Given the description of an element on the screen output the (x, y) to click on. 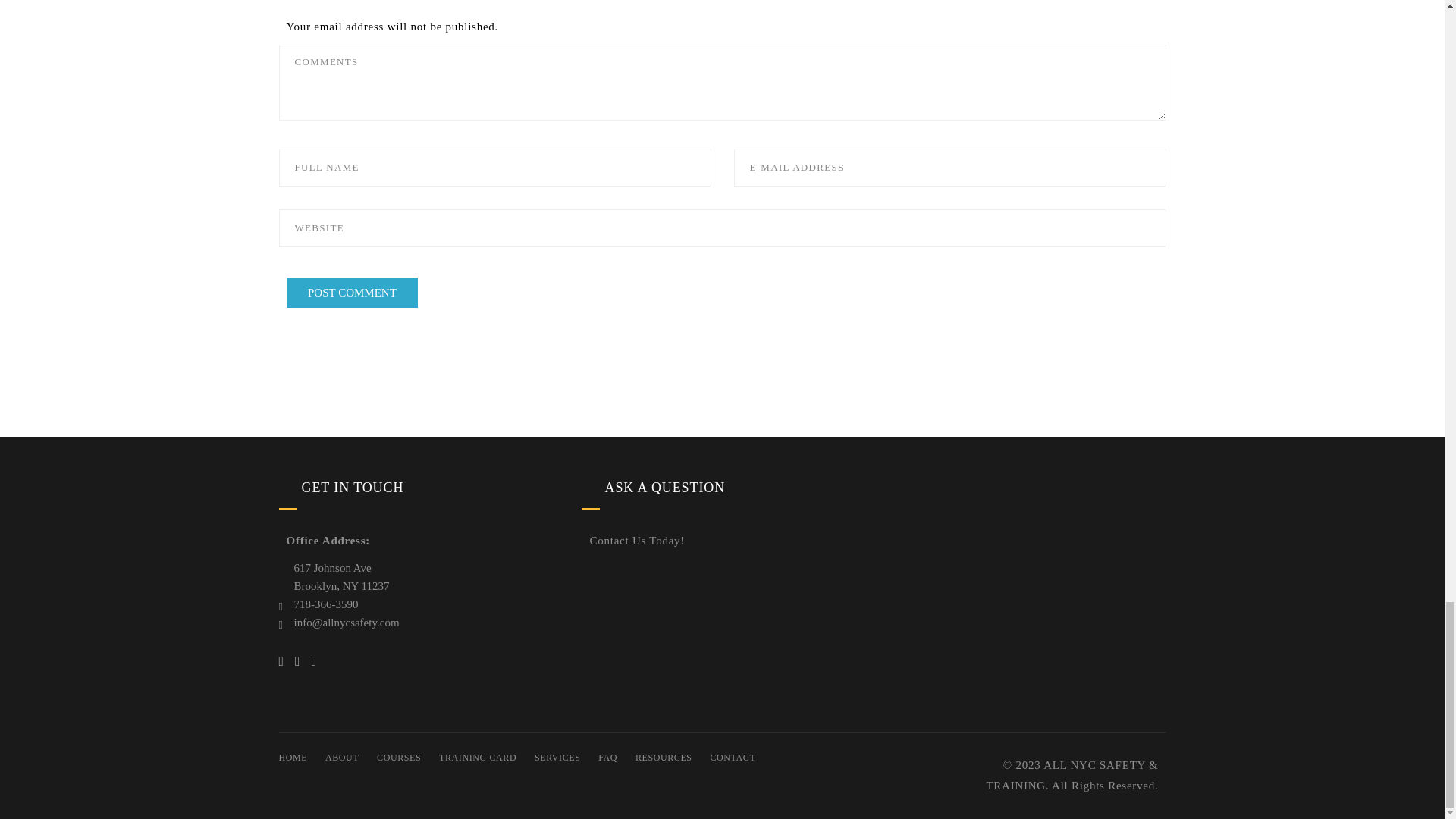
Post Comment (352, 292)
